Given the description of an element on the screen output the (x, y) to click on. 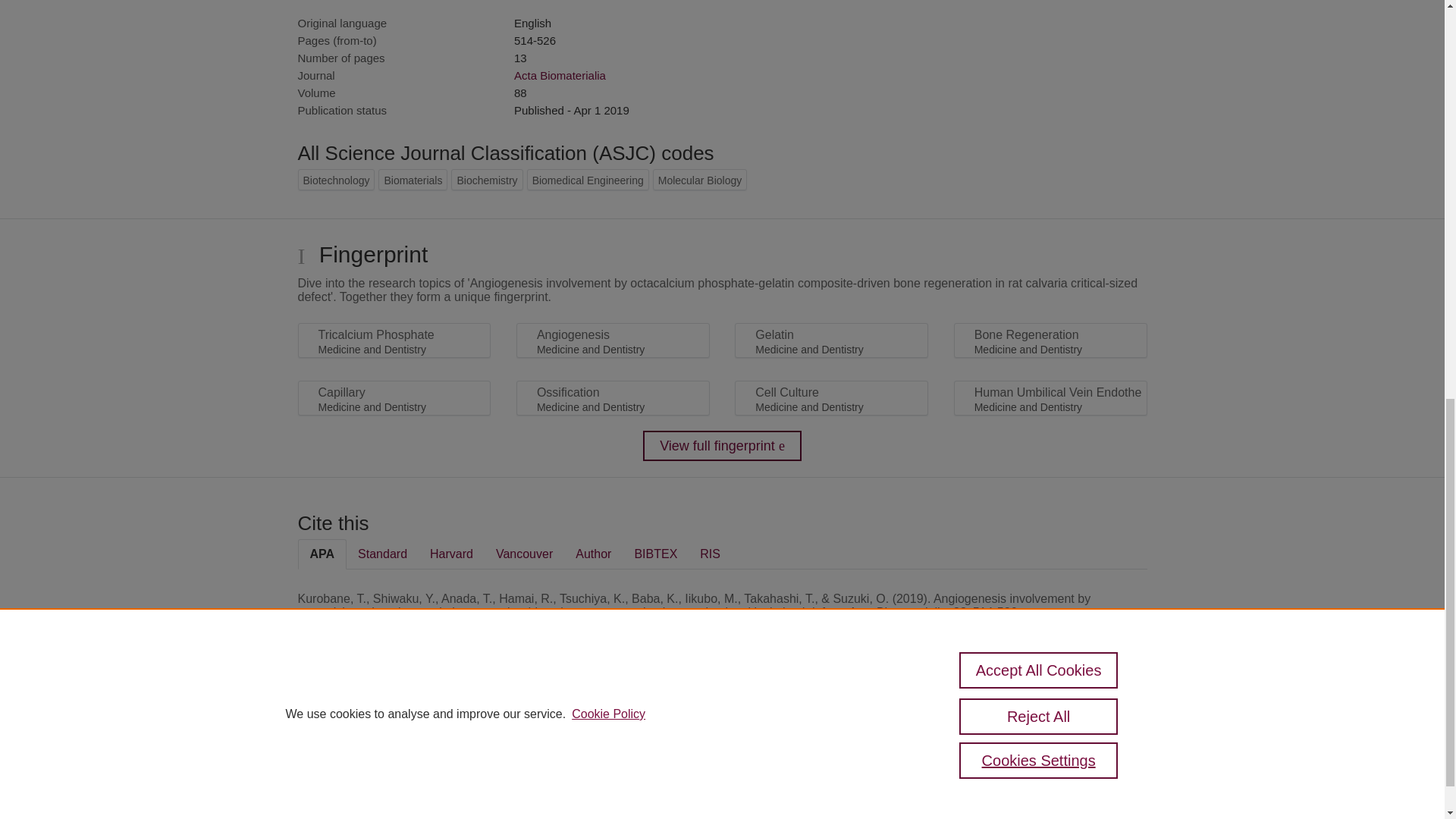
Acta Biomaterialia (559, 74)
Pure (362, 731)
Scopus (394, 731)
View full fingerprint (722, 445)
